Given the description of an element on the screen output the (x, y) to click on. 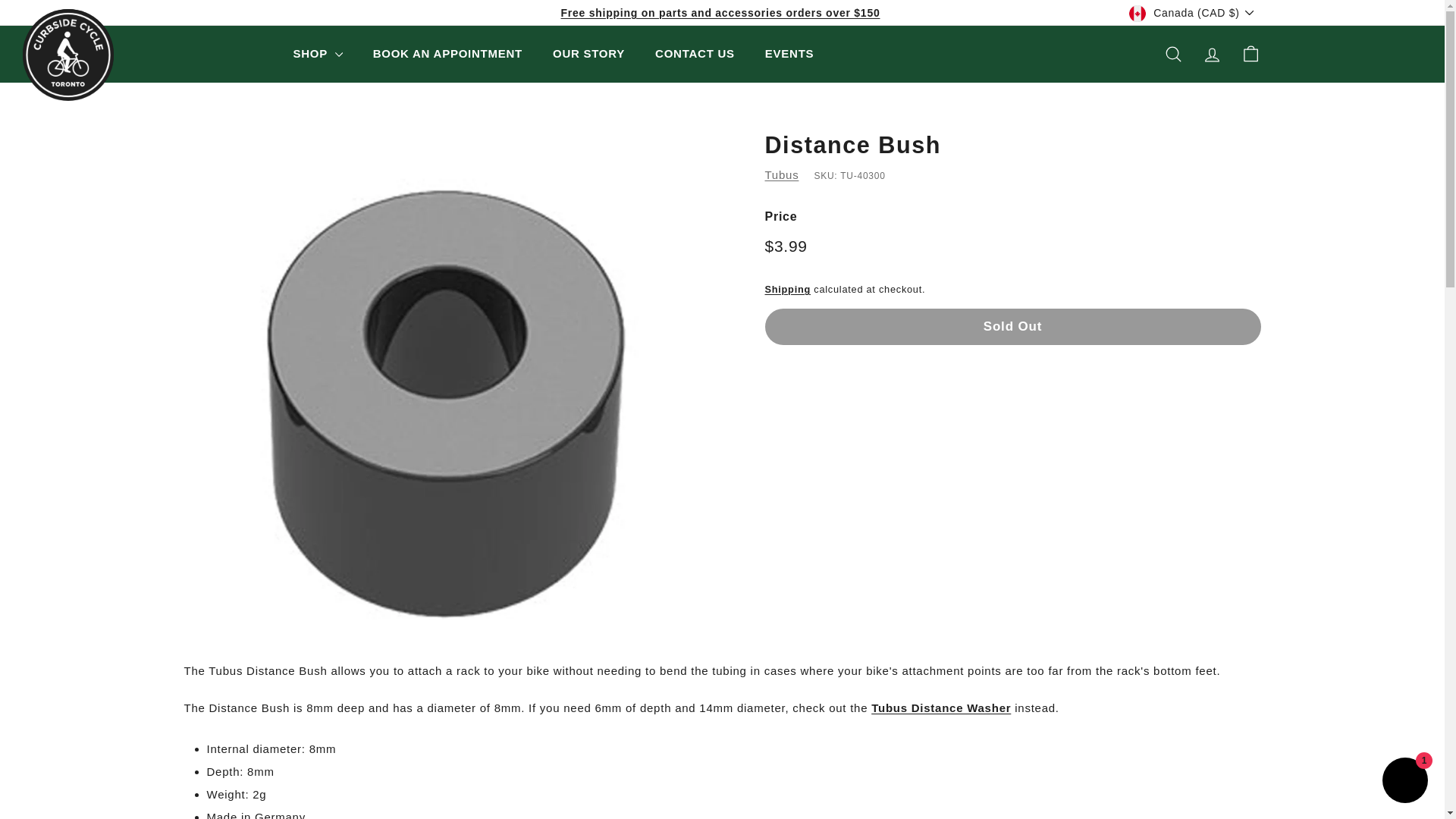
Tubus (780, 174)
Shopify online store chat (1404, 781)
Tubus Distance Washer (940, 707)
